Given the description of an element on the screen output the (x, y) to click on. 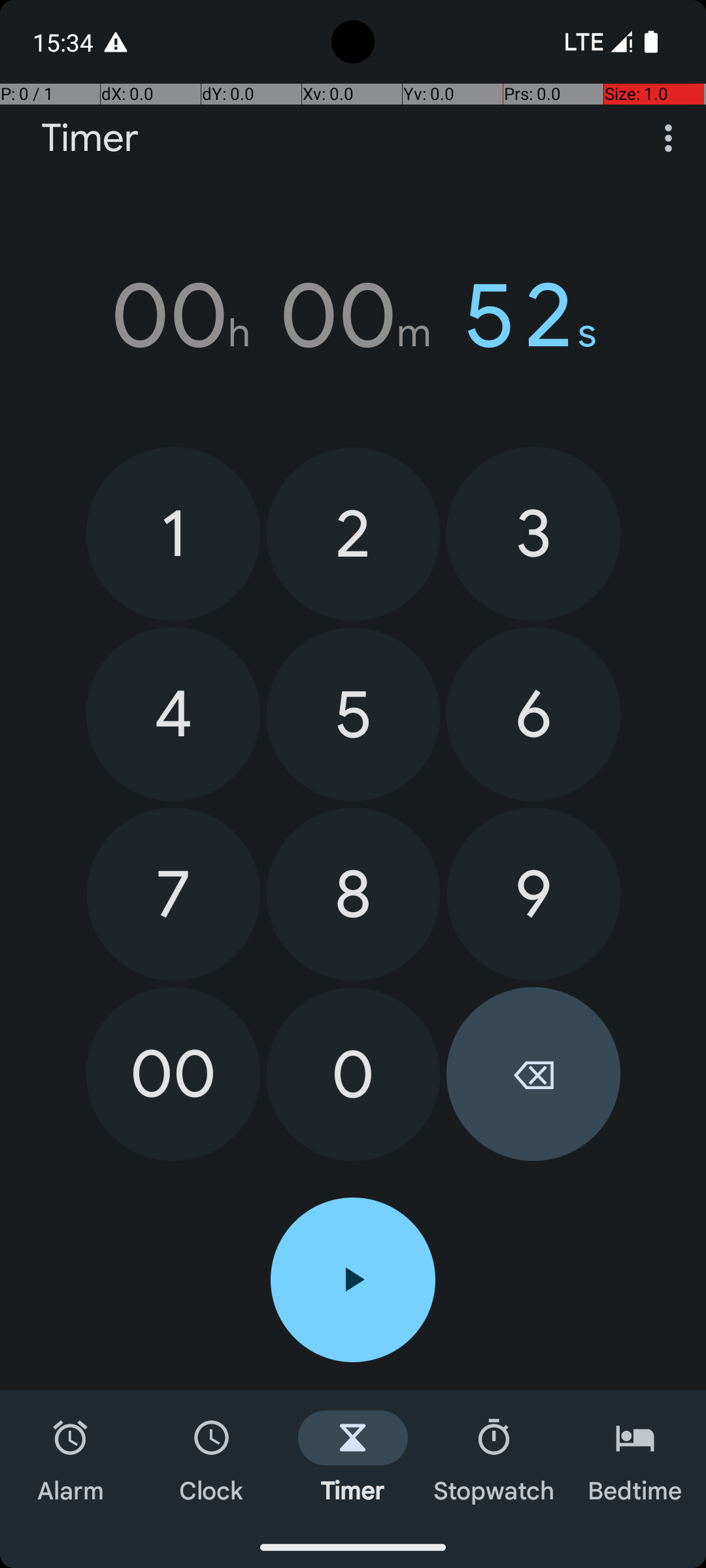
00h 00m 52s Element type: android.widget.TextView (353, 315)
0 Element type: android.widget.Button (352, 1073)
⌫ Element type: android.widget.Button (533, 1073)
Start Element type: android.widget.Button (352, 1279)
